Given the description of an element on the screen output the (x, y) to click on. 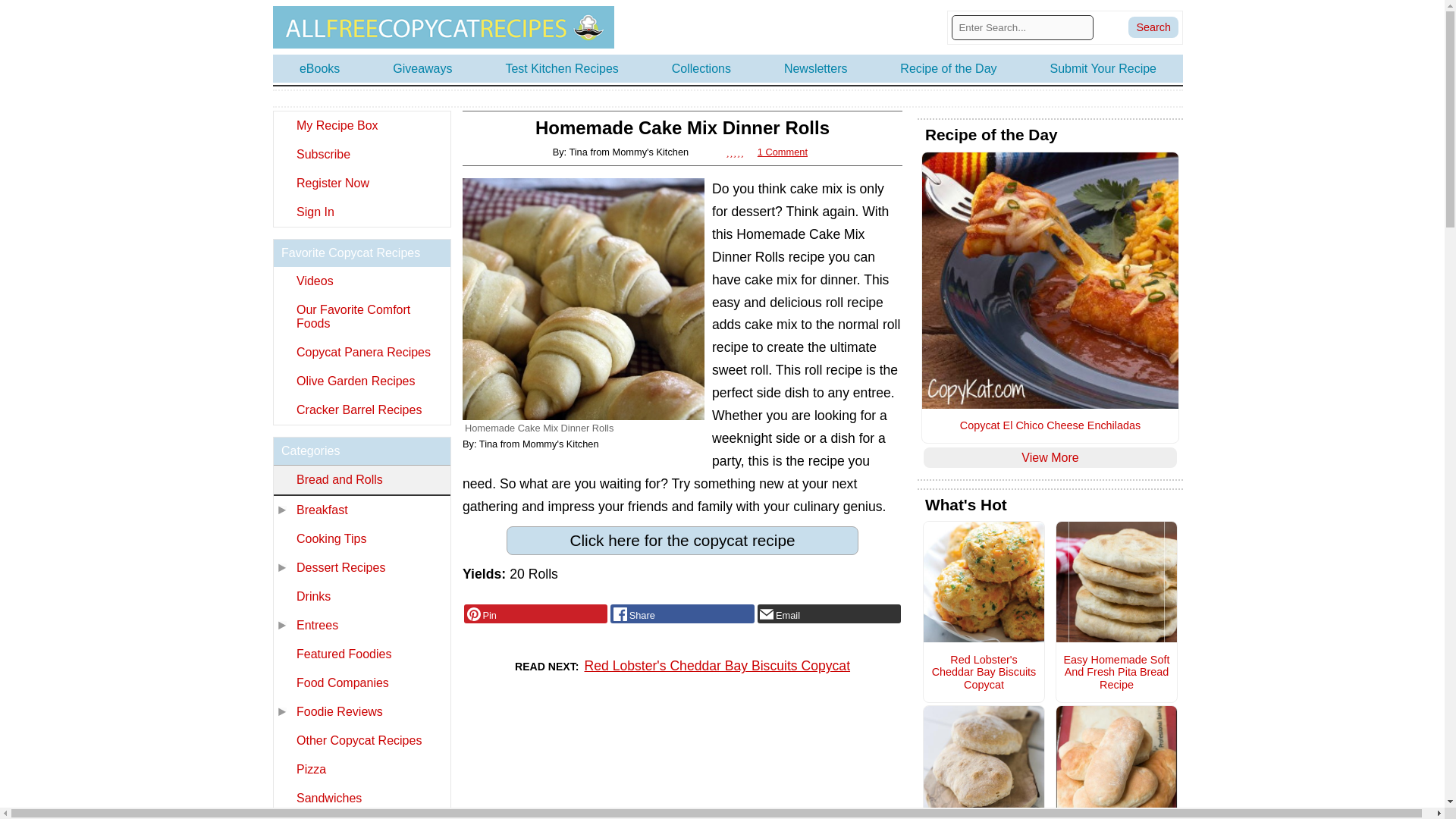
My Recipe Box (361, 125)
Search (1152, 26)
Facebook (682, 614)
Register Now (361, 183)
Sign In (361, 212)
Homemade Cake Mix Dinner Rolls (583, 299)
Email (829, 614)
Subscribe (361, 154)
Insticator Content Engagement Unit (576, 764)
